Given the description of an element on the screen output the (x, y) to click on. 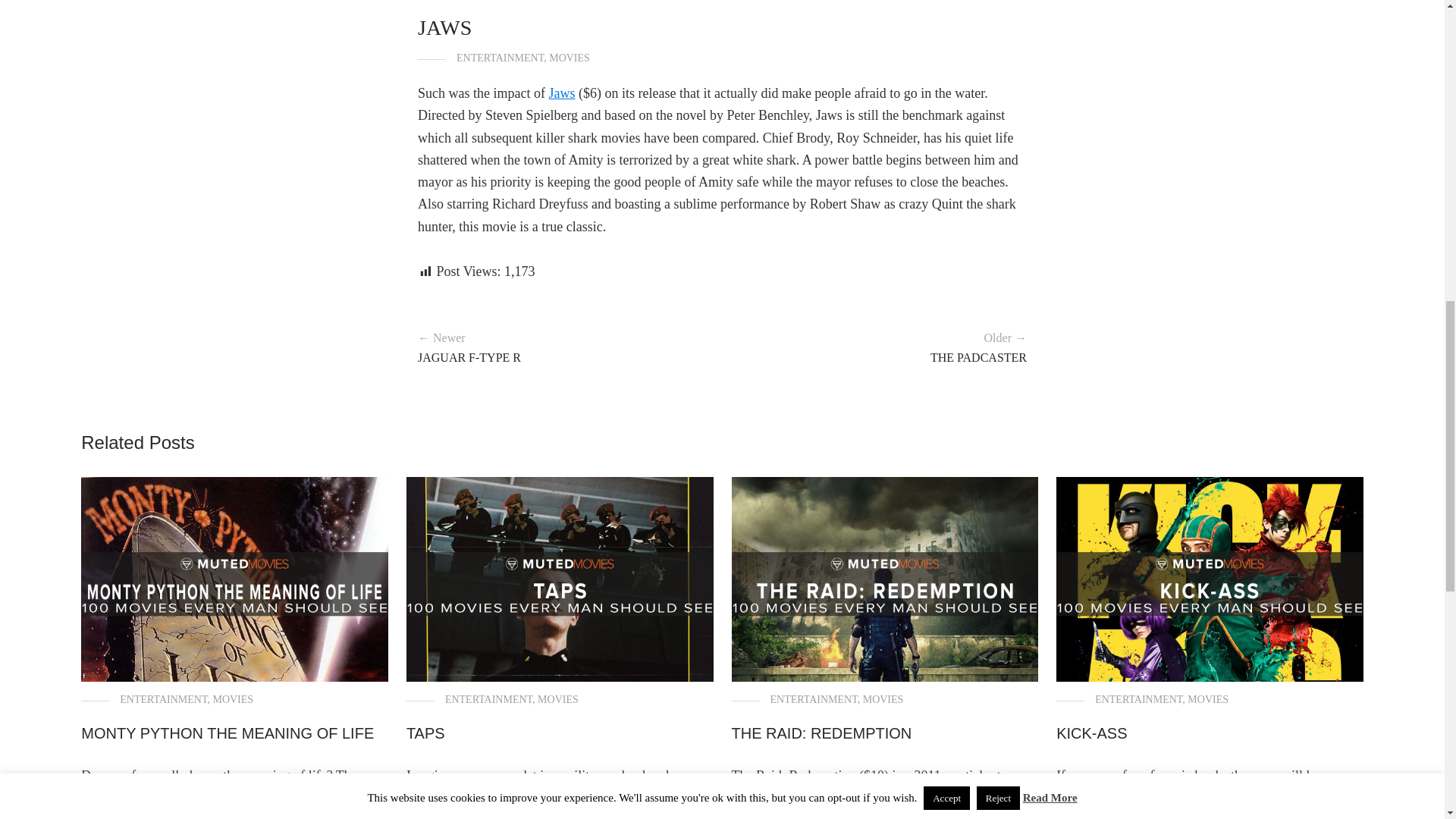
MOVIES (232, 699)
MOVIES (1208, 699)
MONTY PYTHON THE MEANING OF LIFE (227, 733)
KICK-ASS (1091, 733)
ENTERTAINMENT (500, 57)
MOVIES (557, 699)
MOVIES (883, 699)
ENTERTAINMENT (1138, 699)
ENTERTAINMENT (488, 699)
MOVIES (568, 57)
